Given the description of an element on the screen output the (x, y) to click on. 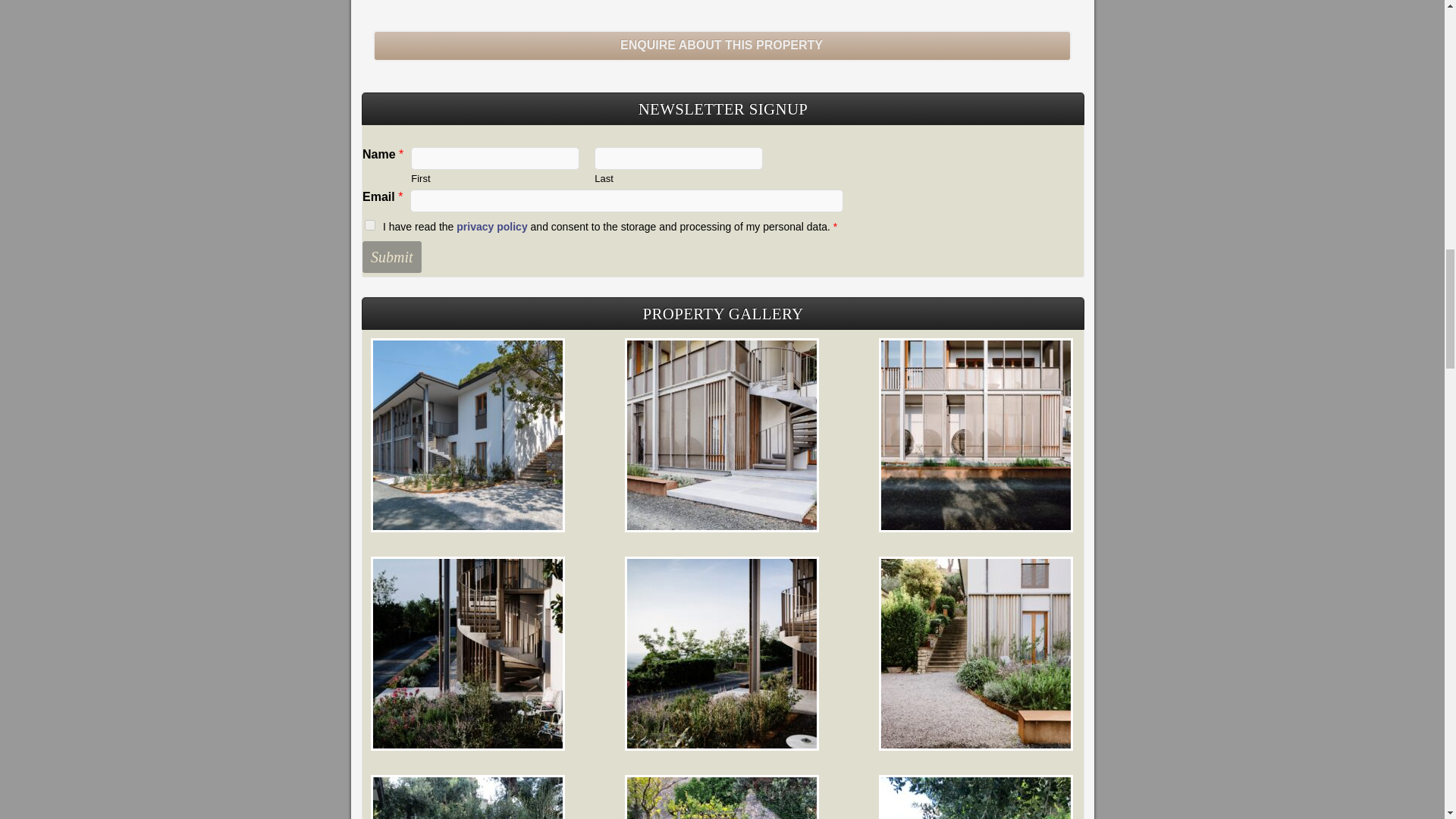
privacy policy (492, 226)
Submit (392, 256)
ENQUIRE ABOUT THIS PROPERTY (721, 45)
